Given the description of an element on the screen output the (x, y) to click on. 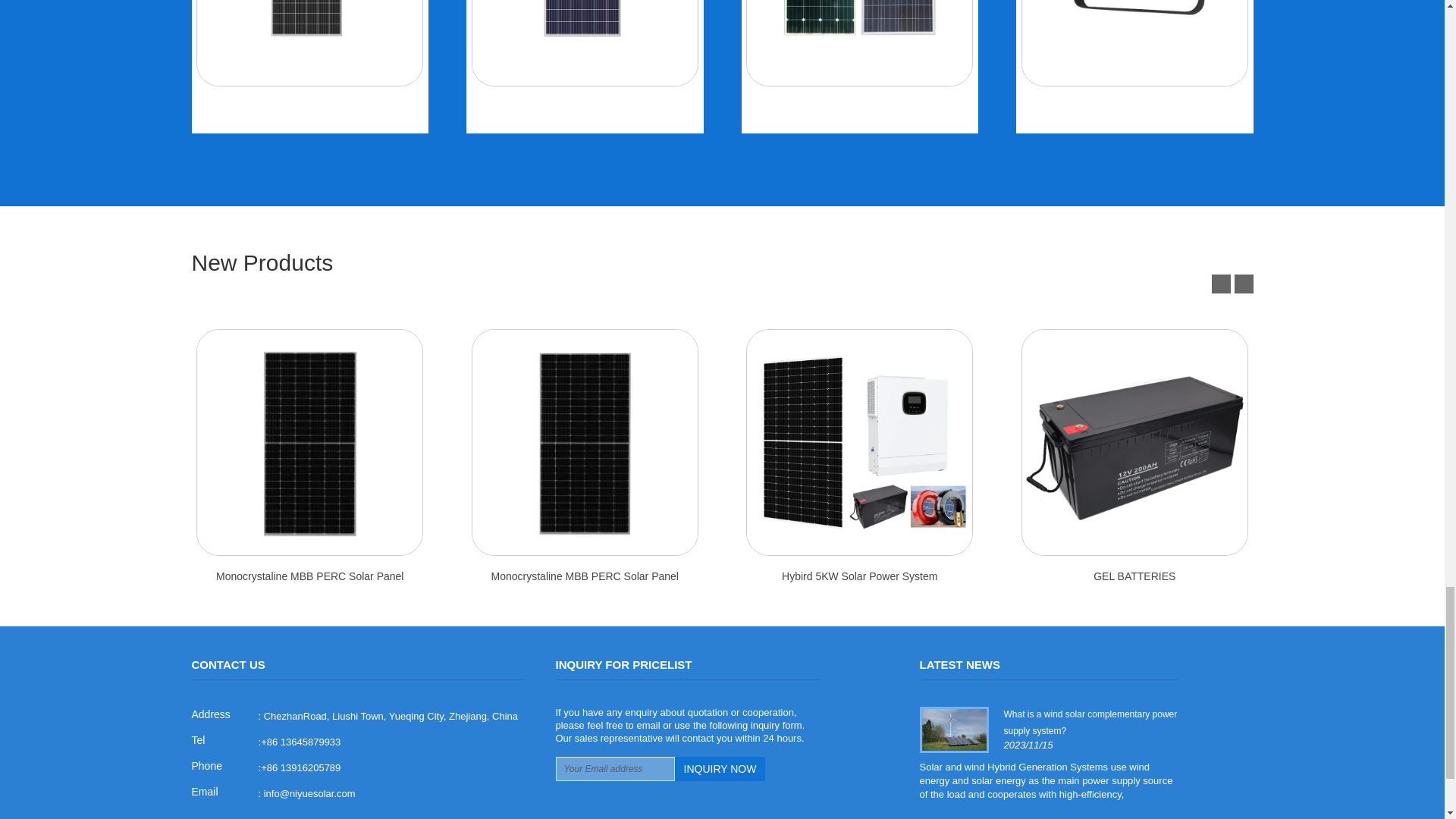
Inquiry Now (720, 768)
Your Email address (614, 768)
